Given the description of an element on the screen output the (x, y) to click on. 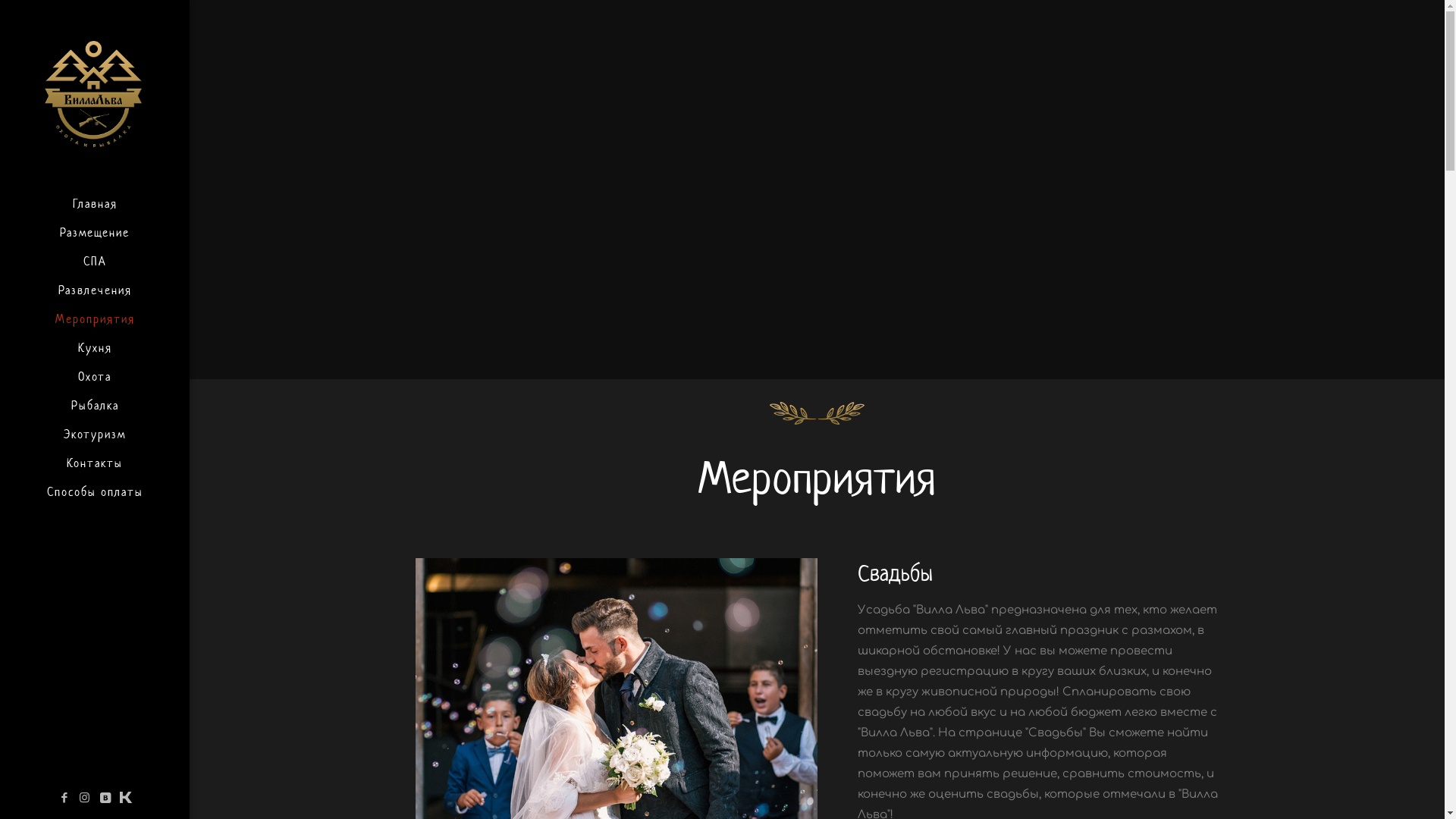
Instagram Element type: hover (84, 797)
VKontakte Element type: hover (104, 797)
Facebook Element type: hover (64, 797)
razdelitel1 Element type: hover (816, 412)
